Given the description of an element on the screen output the (x, y) to click on. 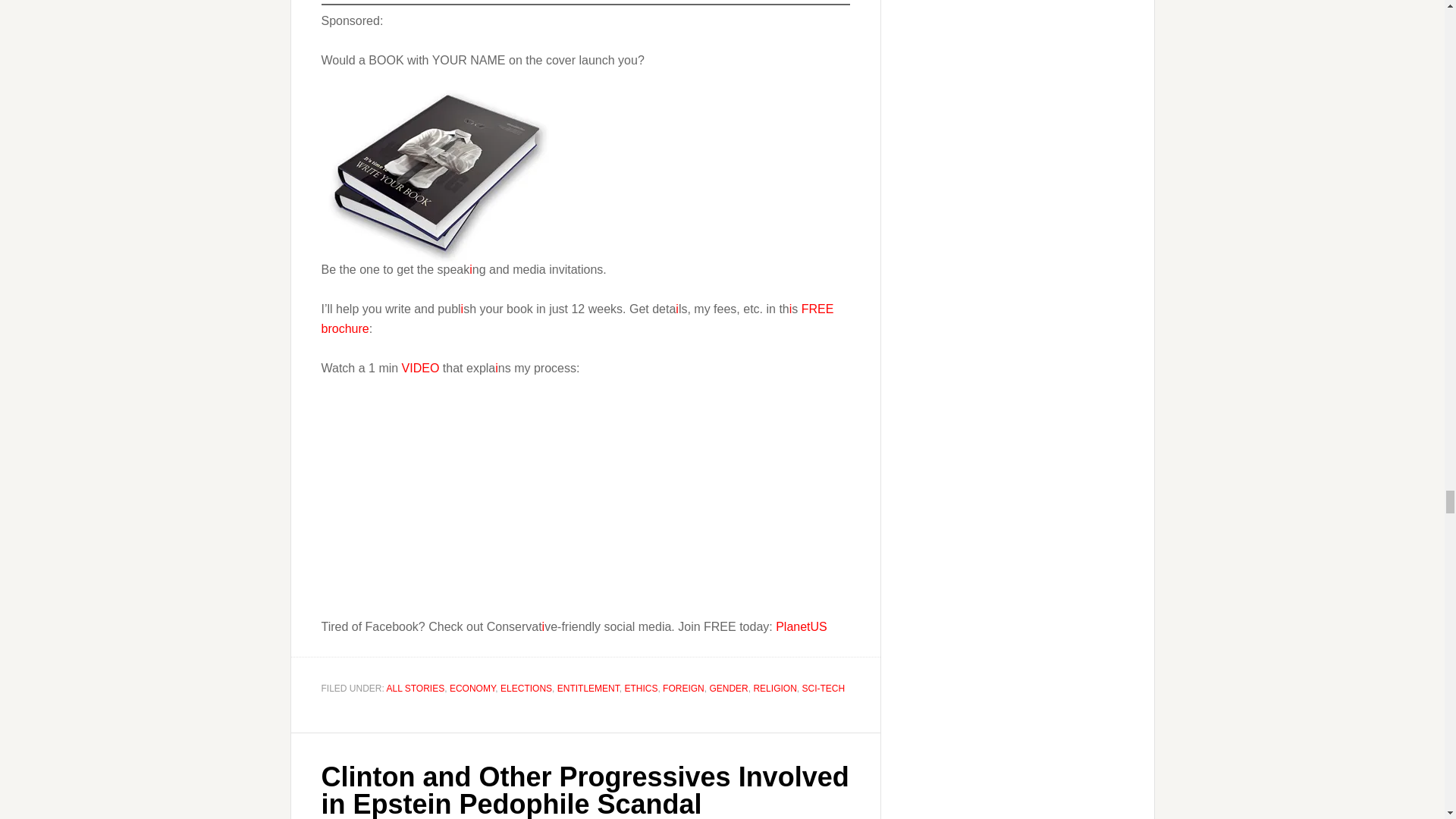
Your Book Makes You the Expert (510, 504)
